Given the description of an element on the screen output the (x, y) to click on. 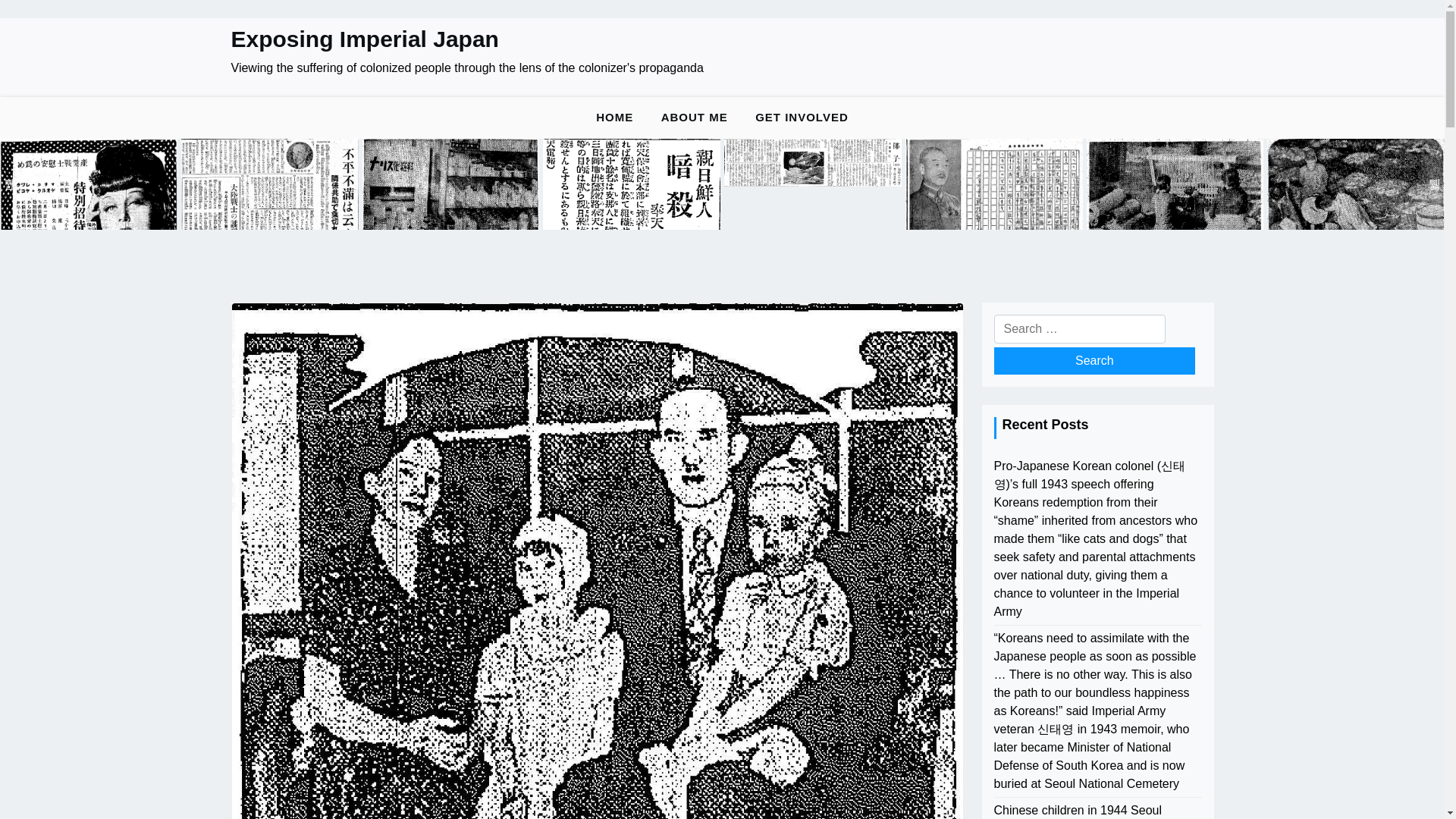
In October 1922, a hit squad of... (631, 185)
The Korean people were allegedly descendants of... (994, 185)
Korean farming family weaving straw bags known... (1174, 185)
GET INVOLVED (801, 117)
Hollywood movies and Western cosmetic brands were... (451, 185)
In January 1943, Hollywood films were banned... (88, 185)
Search (1093, 360)
ABOUT ME (694, 117)
Angry Koreans filed numerous complaints against local... (269, 185)
HOME (614, 117)
Exposing Imperial Japan (363, 39)
Search (1093, 360)
